Given the description of an element on the screen output the (x, y) to click on. 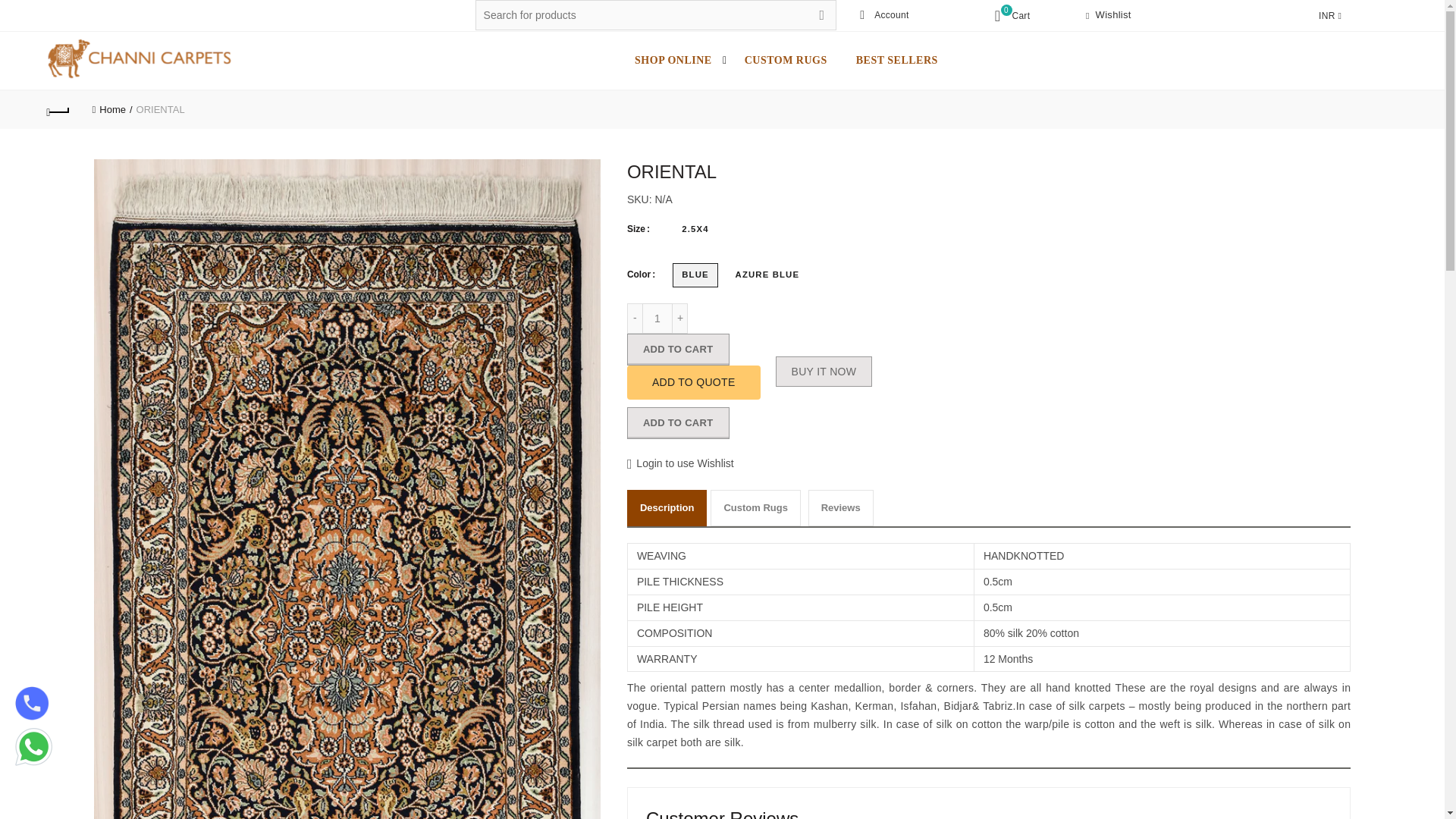
Qty (657, 318)
1 (657, 318)
